Given the description of an element on the screen output the (x, y) to click on. 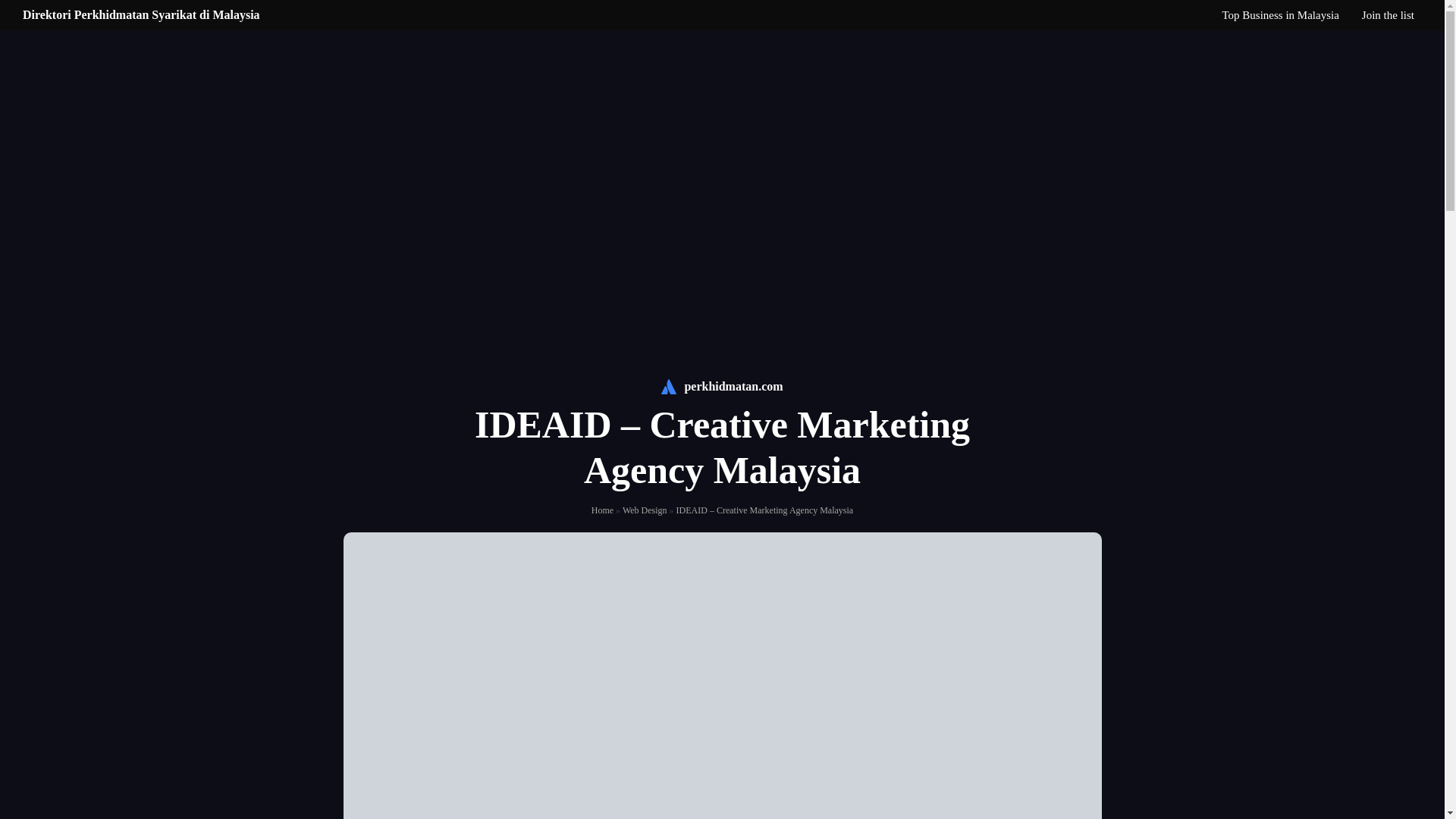
Direktori Perkhidmatan Syarikat di Malaysia (141, 14)
Web Design (644, 510)
Join the list (1388, 14)
Home (601, 510)
Top Business in Malaysia (1279, 14)
